Given the description of an element on the screen output the (x, y) to click on. 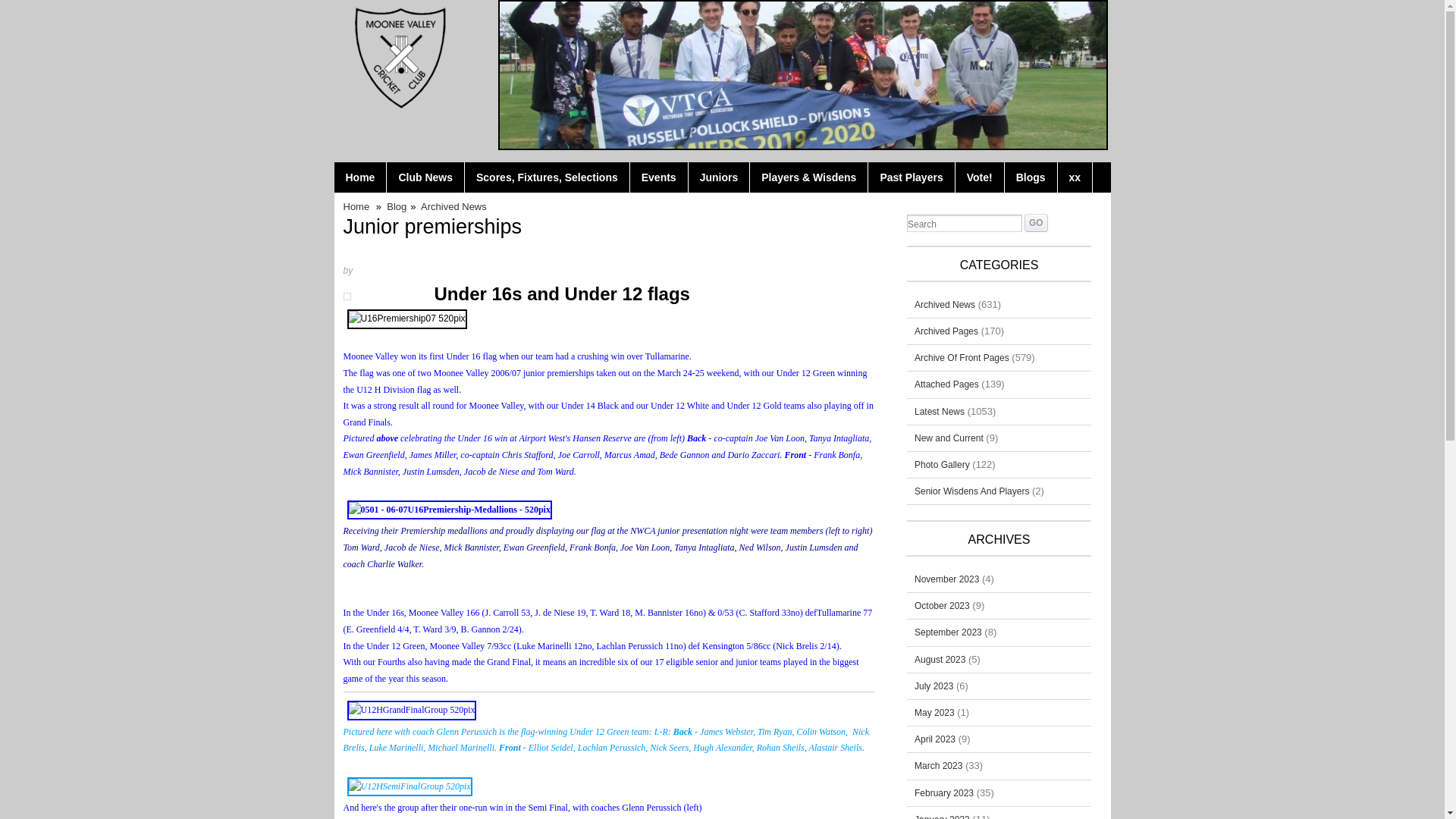
Archive Of Front Pages Element type: text (961, 357)
March 2023 Element type: text (938, 765)
February 2023 Element type: text (943, 792)
Archived Pages Element type: text (946, 331)
November 2023 Element type: text (946, 579)
Juniors Element type: text (719, 177)
MVCC Under 16 premiers Element type: hover (407, 319)
Home Element type: text (357, 206)
July 2023 Element type: text (933, 685)
xx Element type: text (1075, 177)
April 2023 Element type: text (934, 739)
Players & Wisdens Element type: text (808, 177)
Archived News Element type: text (944, 304)
Archived News Element type: text (455, 206)
Blog Element type: text (398, 206)
Events Element type: text (659, 177)
Vote! Element type: text (979, 177)
GO Element type: text (1036, 222)
August 2023 Element type: text (939, 659)
September 2023 Element type: text (948, 632)
Attached Pages Element type: text (946, 384)
Blogs Element type: text (1030, 177)
Moonee Valley Cricket Club Element type: hover (397, 55)
Home Element type: text (359, 177)
Scores, Fixtures, Selections Element type: text (547, 177)
October 2023 Element type: text (941, 605)
Photo Gallery Element type: text (941, 464)
May 2023 Element type: text (934, 712)
New and Current Element type: text (948, 438)
U16Premiership Medallion presentation Element type: hover (449, 510)
Our Under 12 Green premiership team Element type: hover (411, 710)
Past Players Element type: text (911, 177)
Senior Wisdens And Players Element type: text (971, 491)
Club News Element type: text (425, 177)
Latest News Element type: text (939, 411)
U12H Semi Final Element type: hover (409, 787)
